Given the description of an element on the screen output the (x, y) to click on. 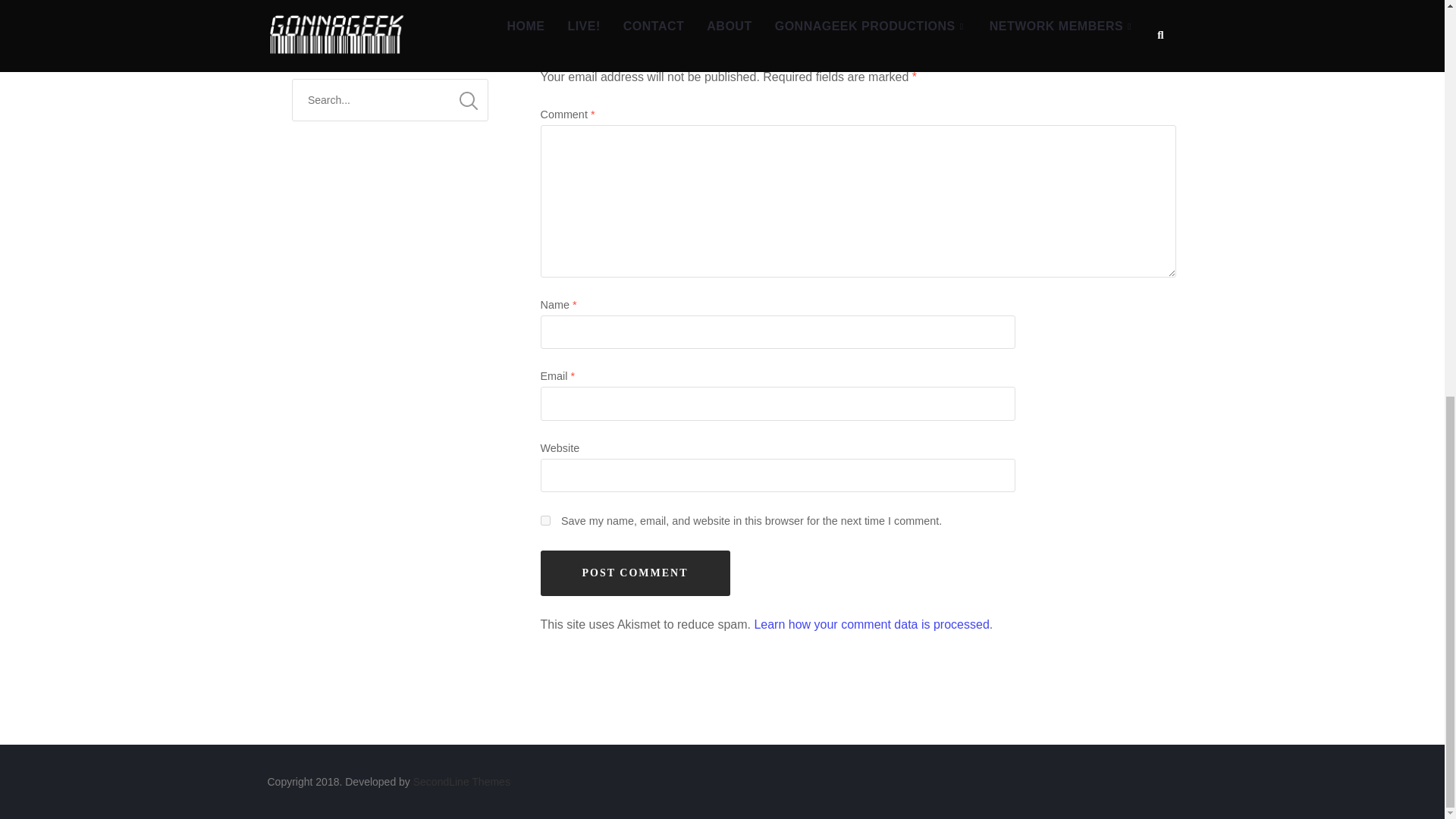
yes (545, 520)
Post Comment (634, 573)
